Given the description of an element on the screen output the (x, y) to click on. 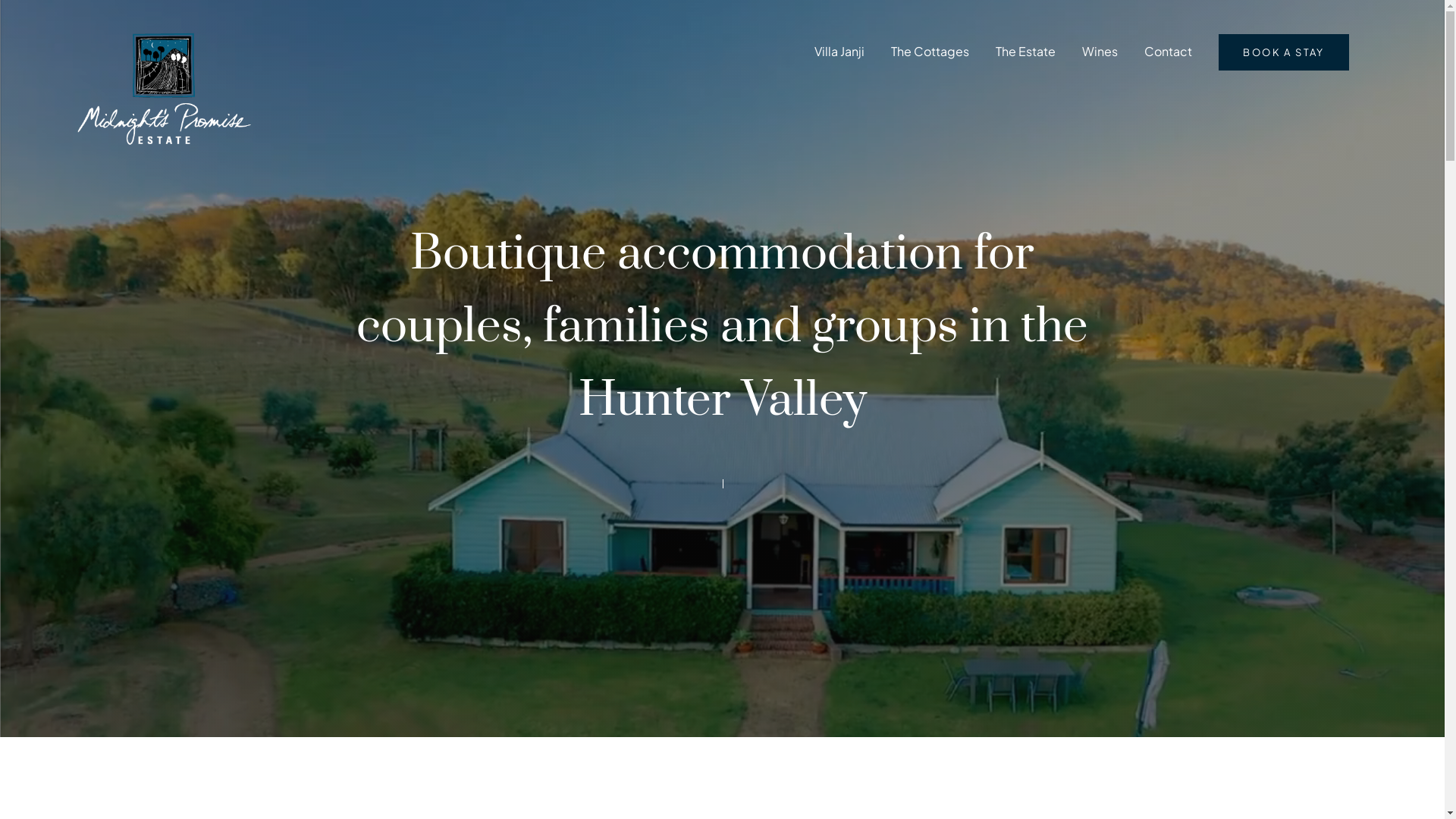
BOOK A STAY Element type: text (1283, 52)
Wines Element type: text (1099, 53)
The Estate Element type: text (1025, 53)
The Cottages Element type: text (930, 53)
Villa Janji Element type: text (839, 53)
Contact Element type: text (1168, 53)
